Given the description of an element on the screen output the (x, y) to click on. 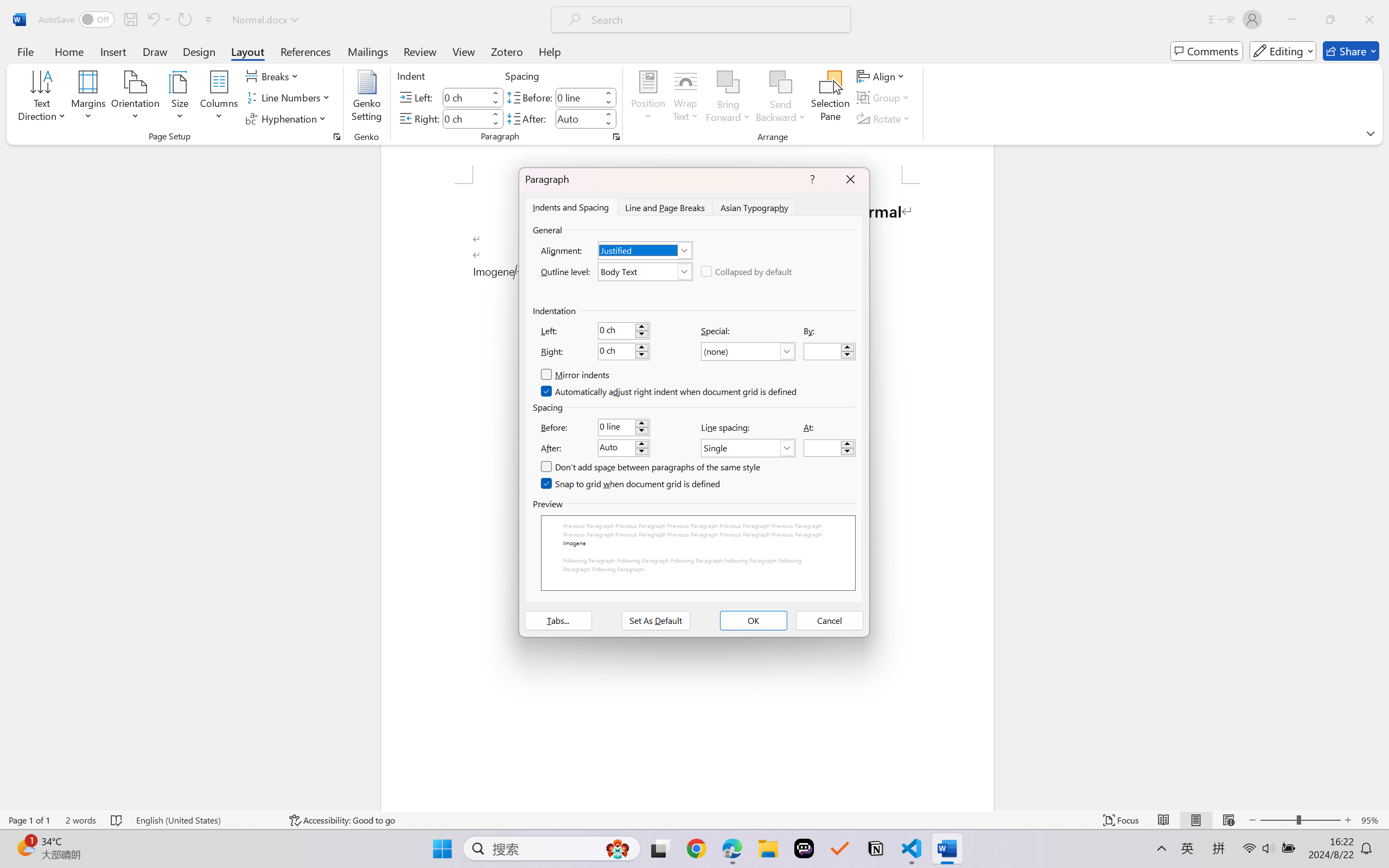
Right: (623, 351)
Breaks (273, 75)
Repeat Paragraph Formatting (184, 19)
